Given the description of an element on the screen output the (x, y) to click on. 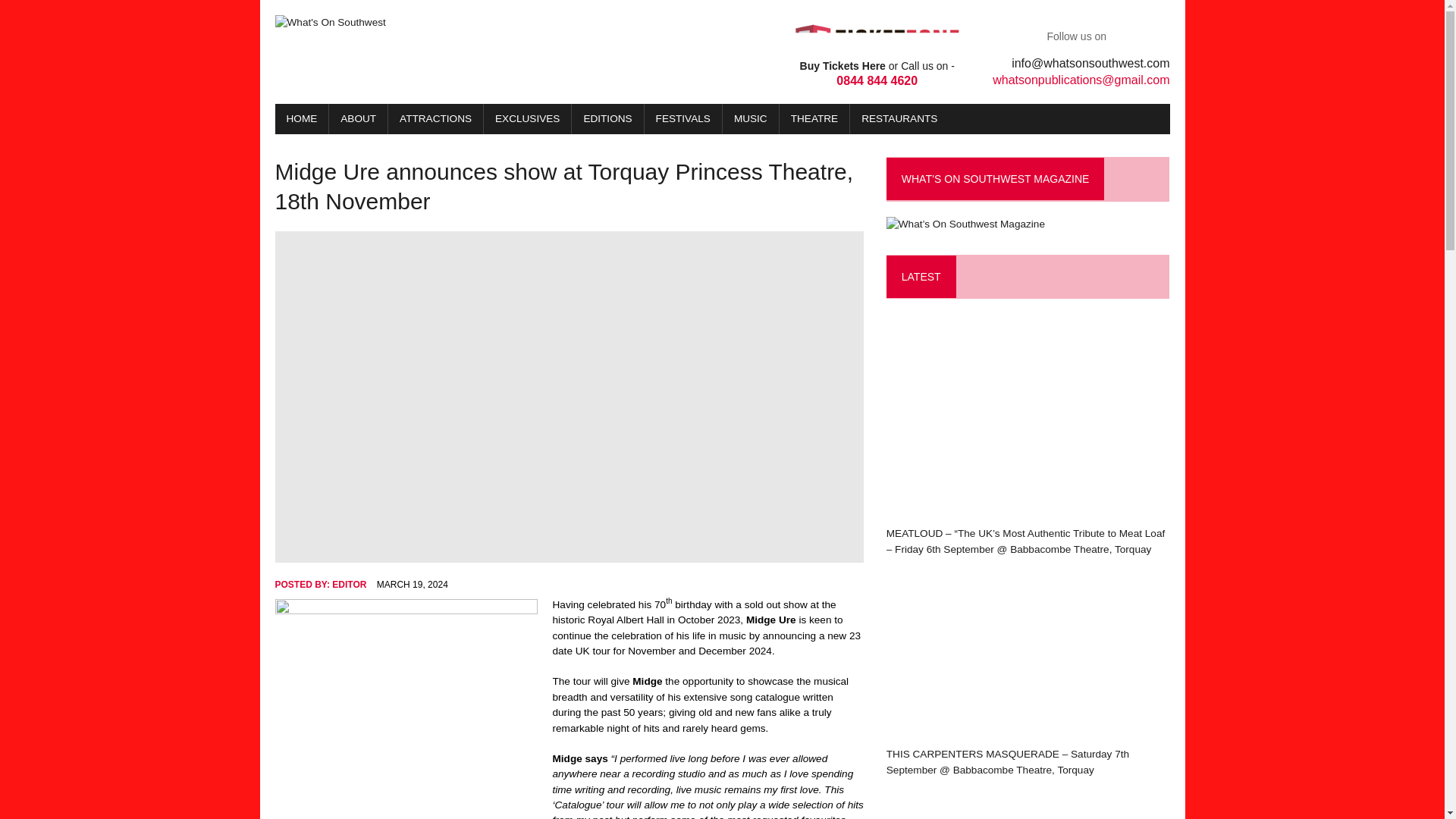
THEATRE (813, 119)
Facebook (1130, 35)
EDITOR (348, 584)
ABOUT (358, 119)
Twitter (1156, 35)
ATTRACTIONS (435, 119)
FESTIVALS (683, 119)
EDITIONS (607, 119)
MUSIC (877, 55)
Whats On Southwest (750, 119)
HOME (483, 22)
RESTAURANTS (302, 119)
Search (899, 119)
TicketZone (75, 14)
